Given the description of an element on the screen output the (x, y) to click on. 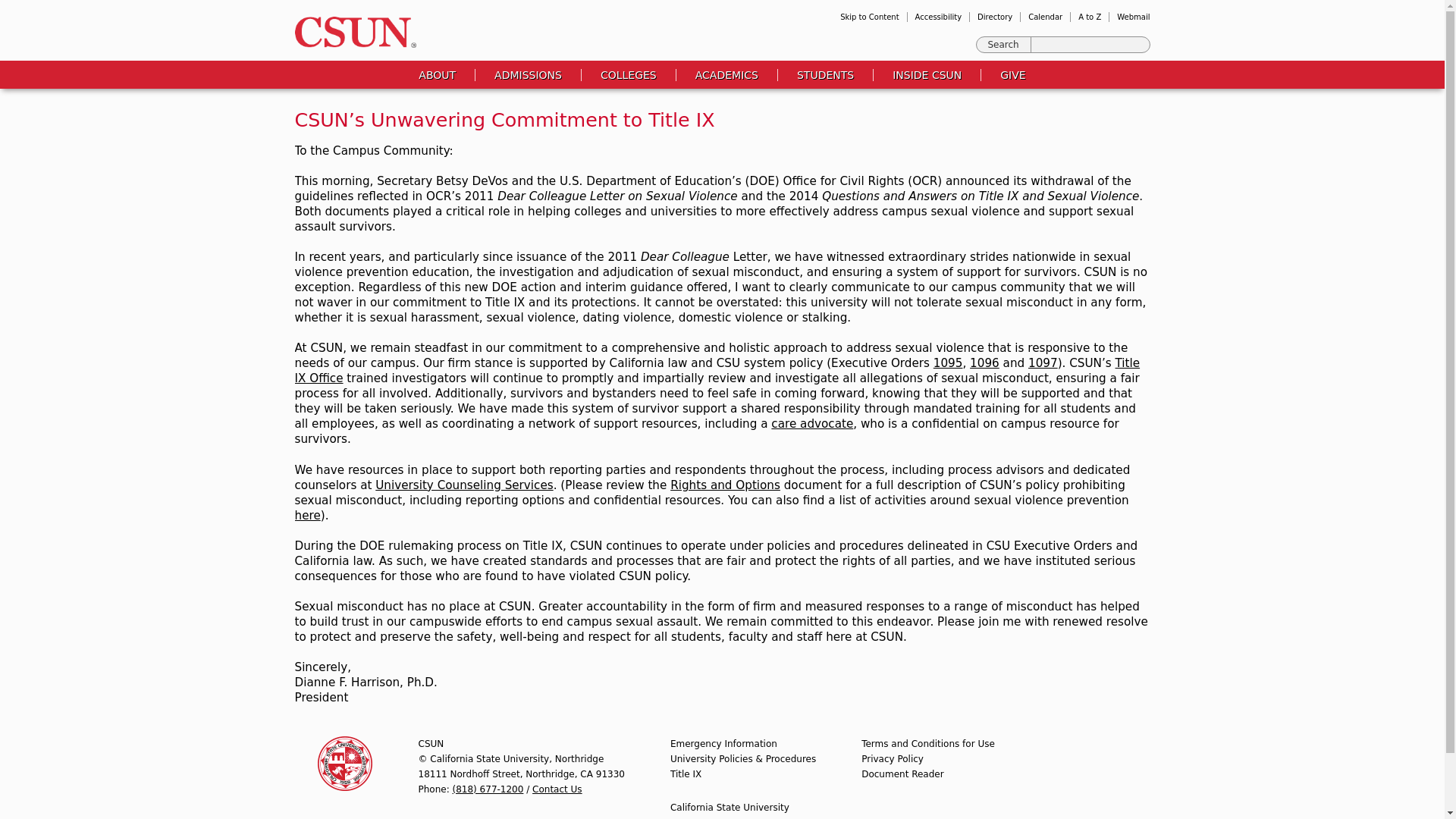
California State University, Northridge - Home (349, 31)
Calendar (1044, 16)
A to Z (1089, 16)
Seal for California State University, Northridge (344, 763)
Search (1003, 44)
ADMISSIONS (528, 74)
Skip to Content (869, 16)
Search (1003, 44)
Directory (993, 16)
Accessibility (938, 16)
